Given the description of an element on the screen output the (x, y) to click on. 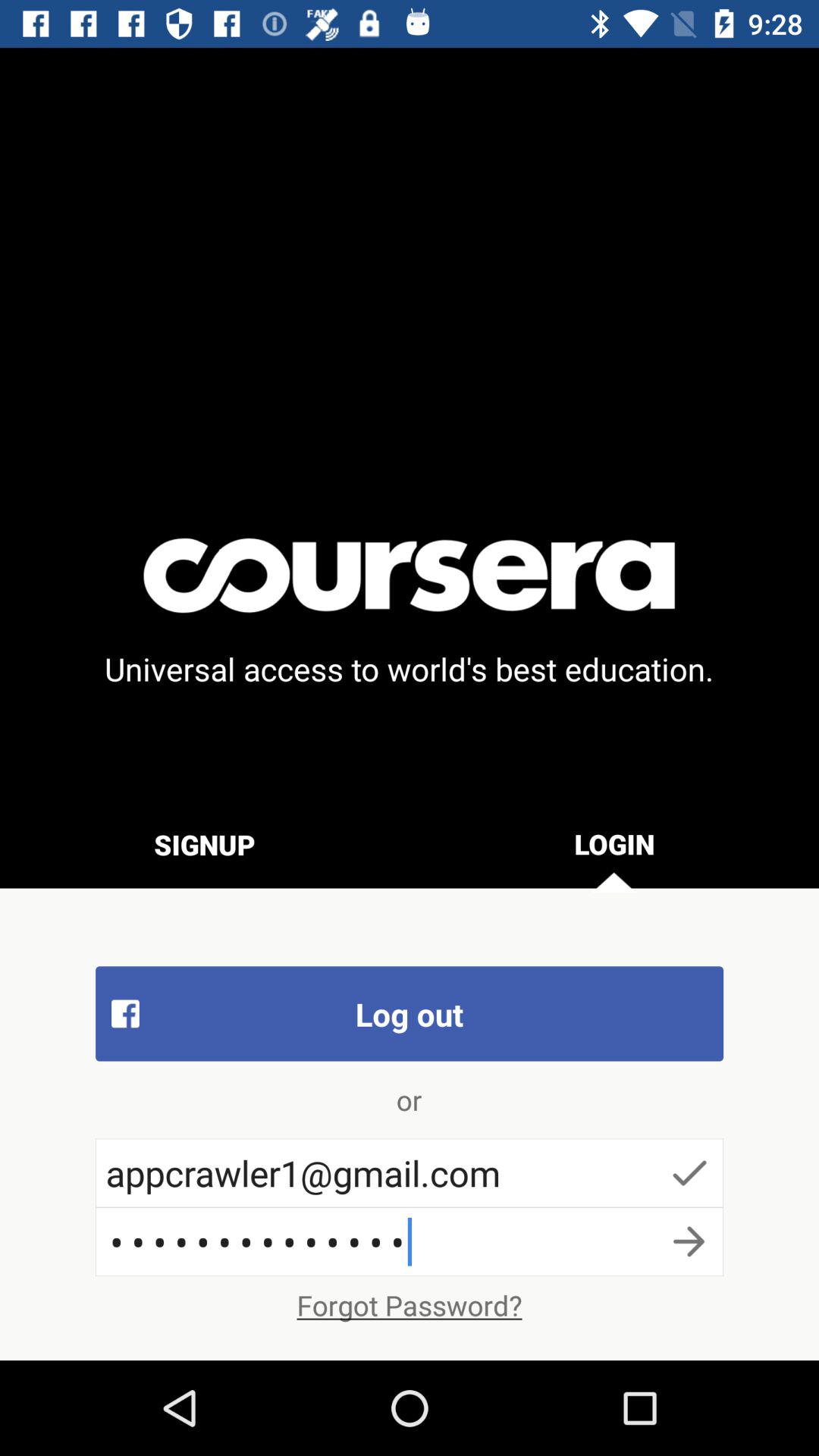
jump to the signup item (204, 844)
